Given the description of an element on the screen output the (x, y) to click on. 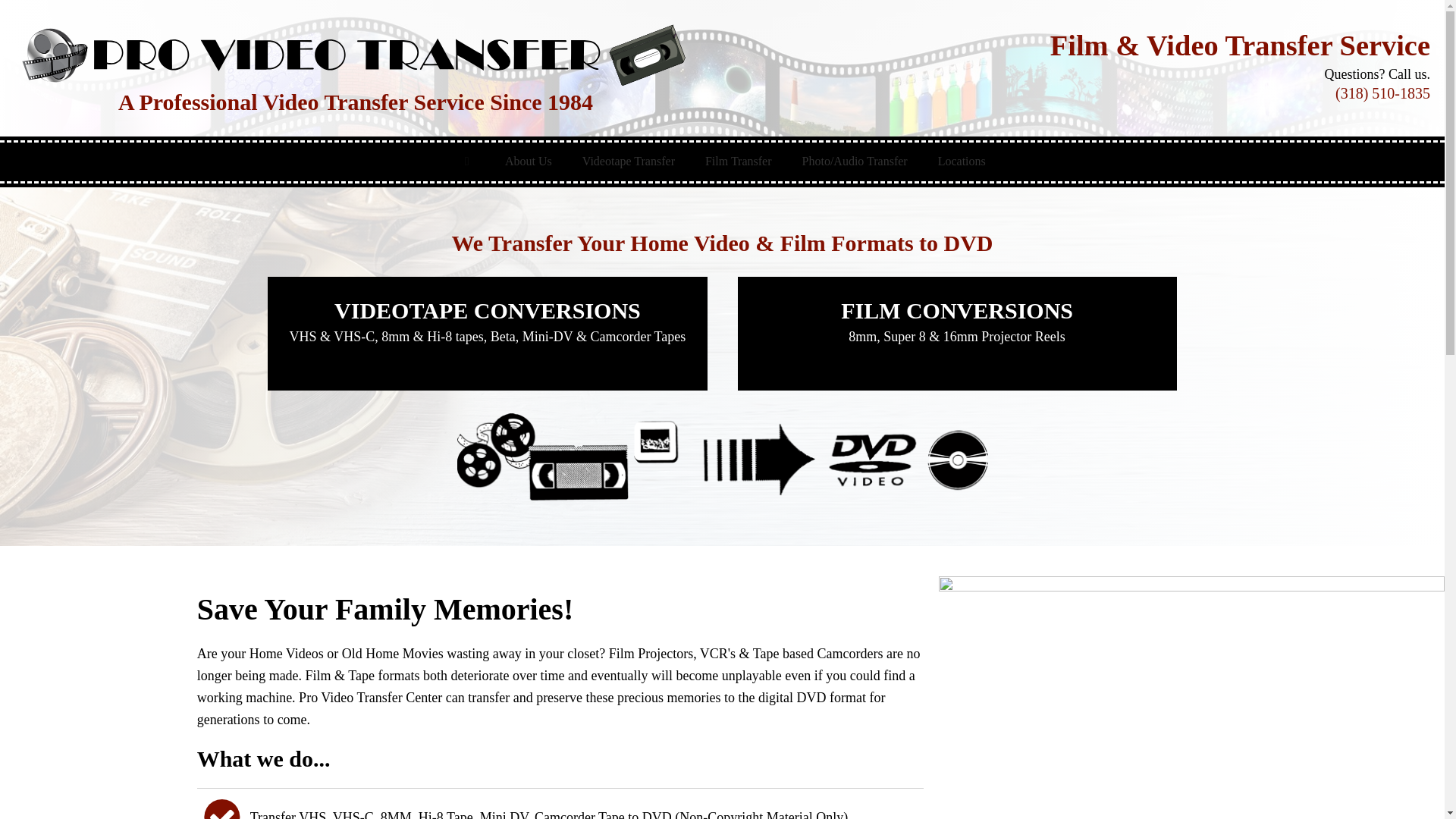
A Professional Video Transfer Service Since 1984 (355, 67)
About Us (528, 161)
Videotape Transfer (628, 161)
Film Transfer (738, 161)
Locations (962, 161)
